Given the description of an element on the screen output the (x, y) to click on. 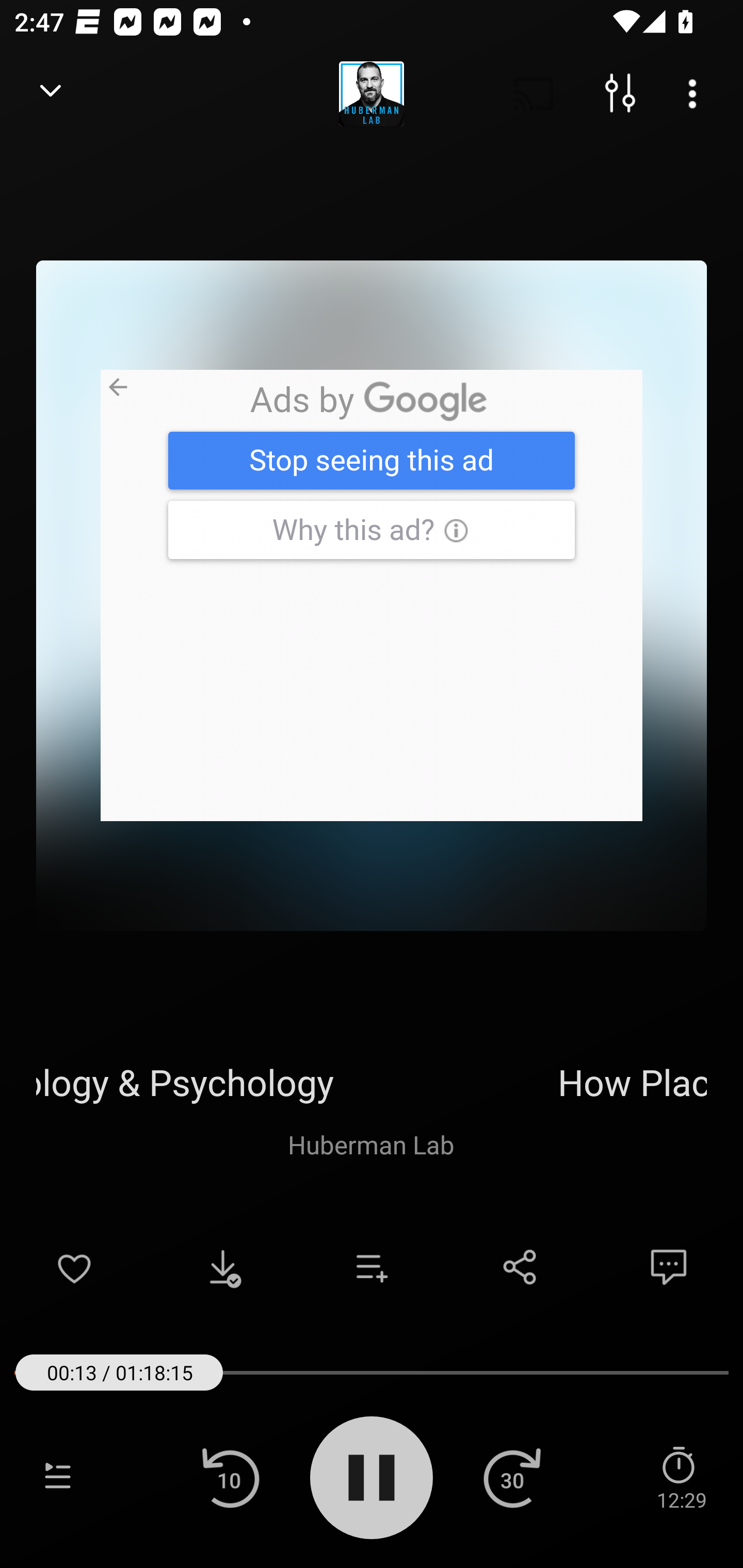
Cast. Disconnected (533, 93)
 Back (50, 94)
Watcher of … Pre-register Pre-register (371, 595)
Huberman Lab (370, 1144)
Comments (668, 1266)
Add to Favorites (73, 1266)
Add to playlist (371, 1266)
Share (519, 1266)
Sleep Timer  12:29 (681, 1477)
 Playlist (57, 1477)
